Given the description of an element on the screen output the (x, y) to click on. 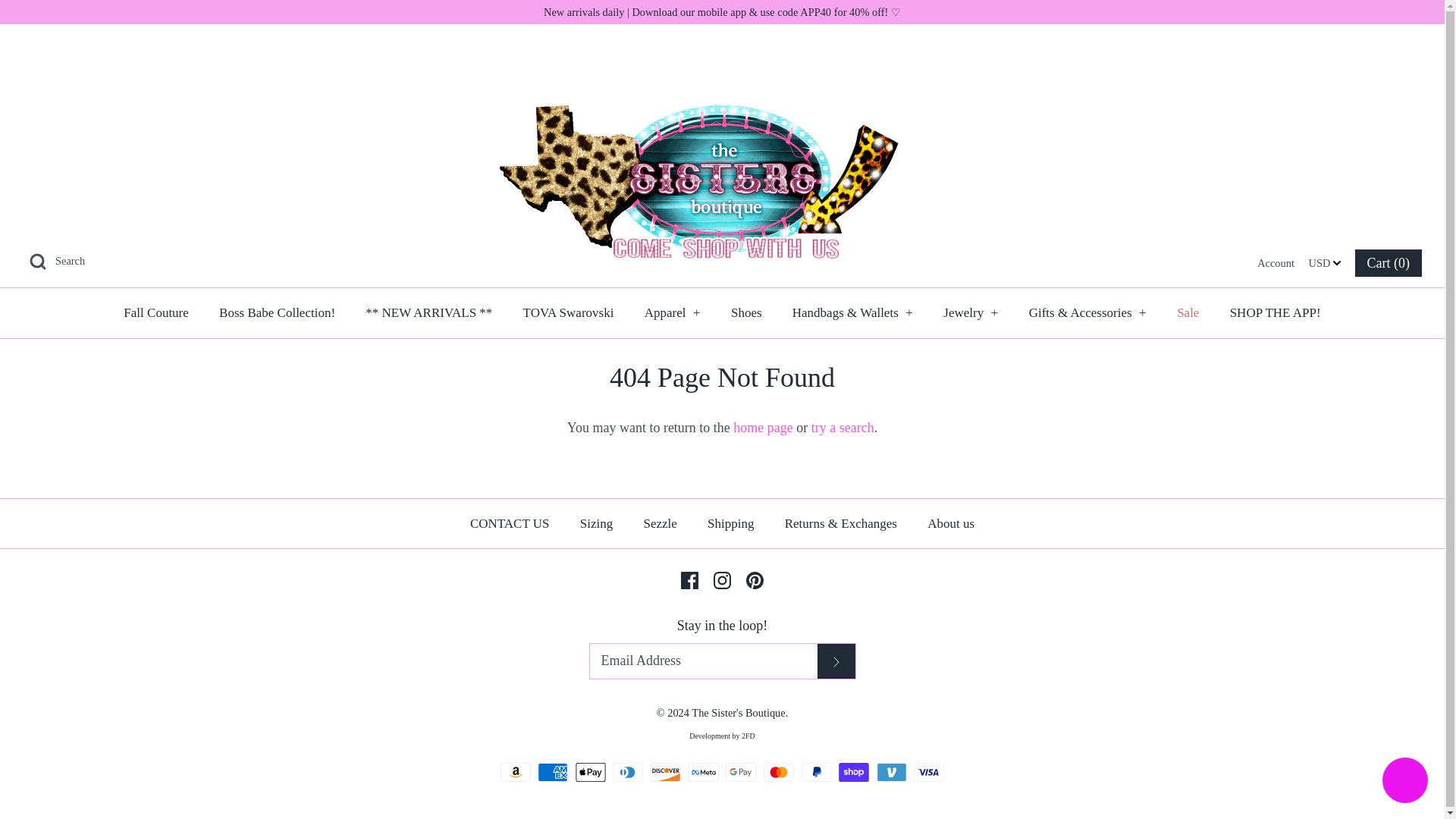
Instagram (721, 579)
Shoes (746, 313)
Instagram (721, 579)
Pinterest (753, 579)
Pinterest (753, 579)
Discover (665, 772)
Down (1336, 263)
Amazon (515, 772)
Visa (928, 772)
Google Pay (740, 772)
